Given the description of an element on the screen output the (x, y) to click on. 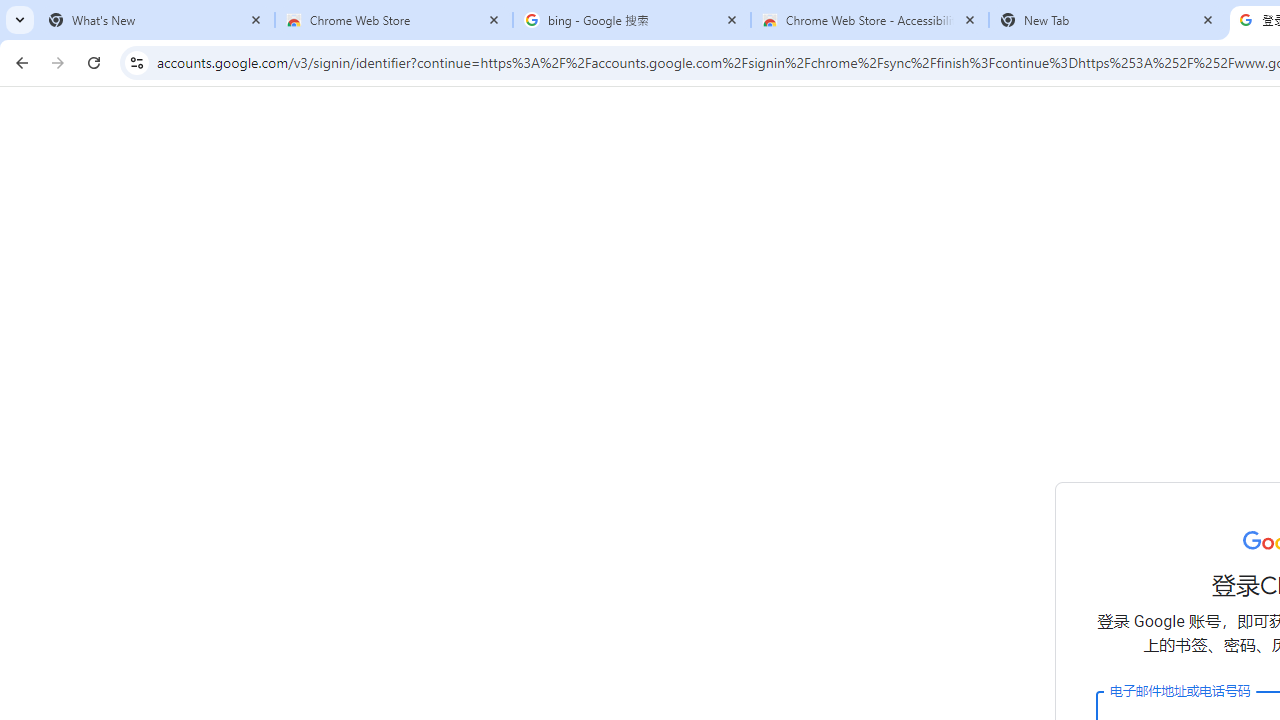
Chrome Web Store - Accessibility (870, 20)
Chrome Web Store (394, 20)
New Tab (1108, 20)
What's New (156, 20)
